Given the description of an element on the screen output the (x, y) to click on. 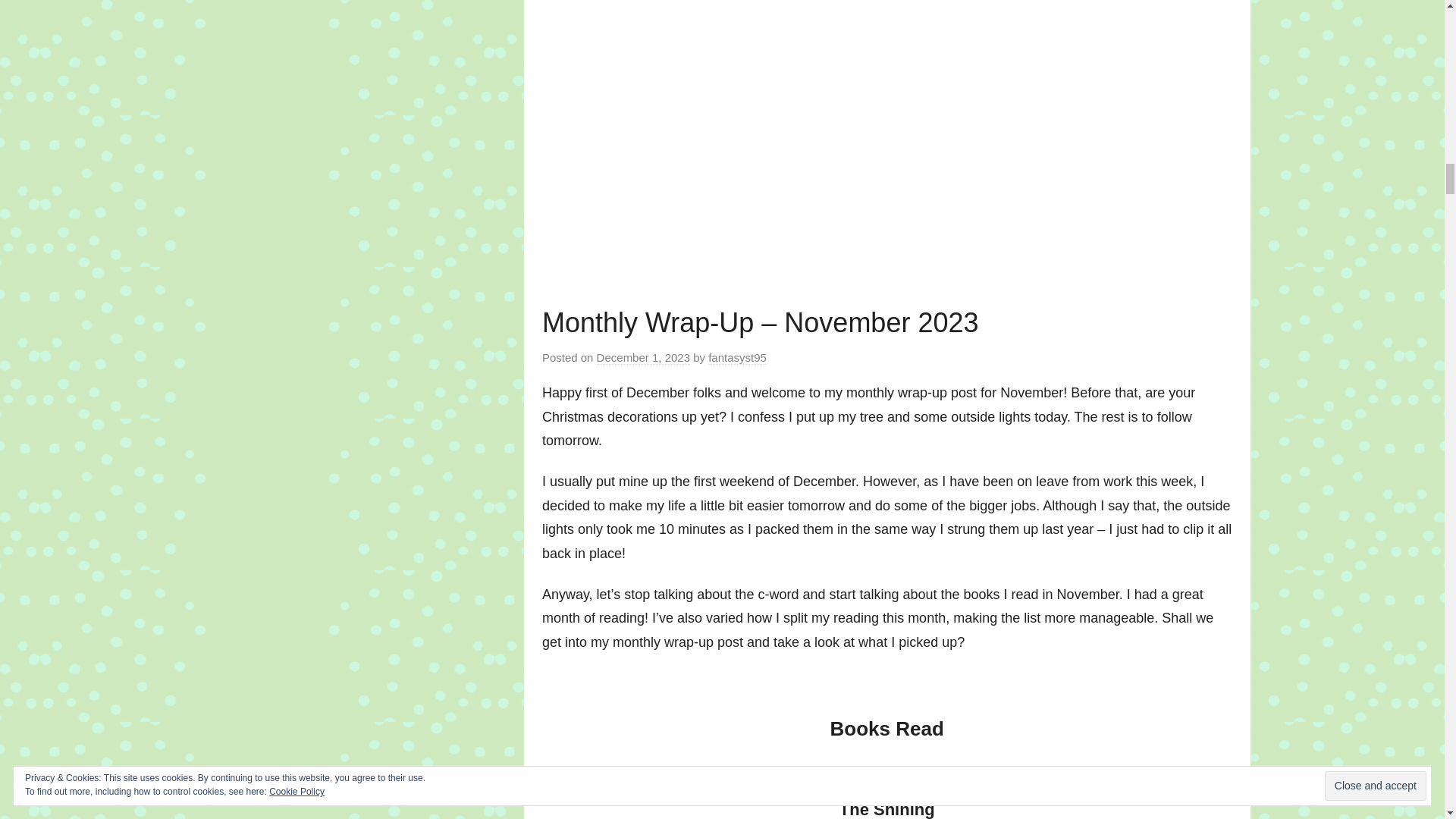
December 1, 2023 (643, 357)
View all posts by fantasyst95 (737, 357)
fantasyst95 (737, 357)
